Given the description of an element on the screen output the (x, y) to click on. 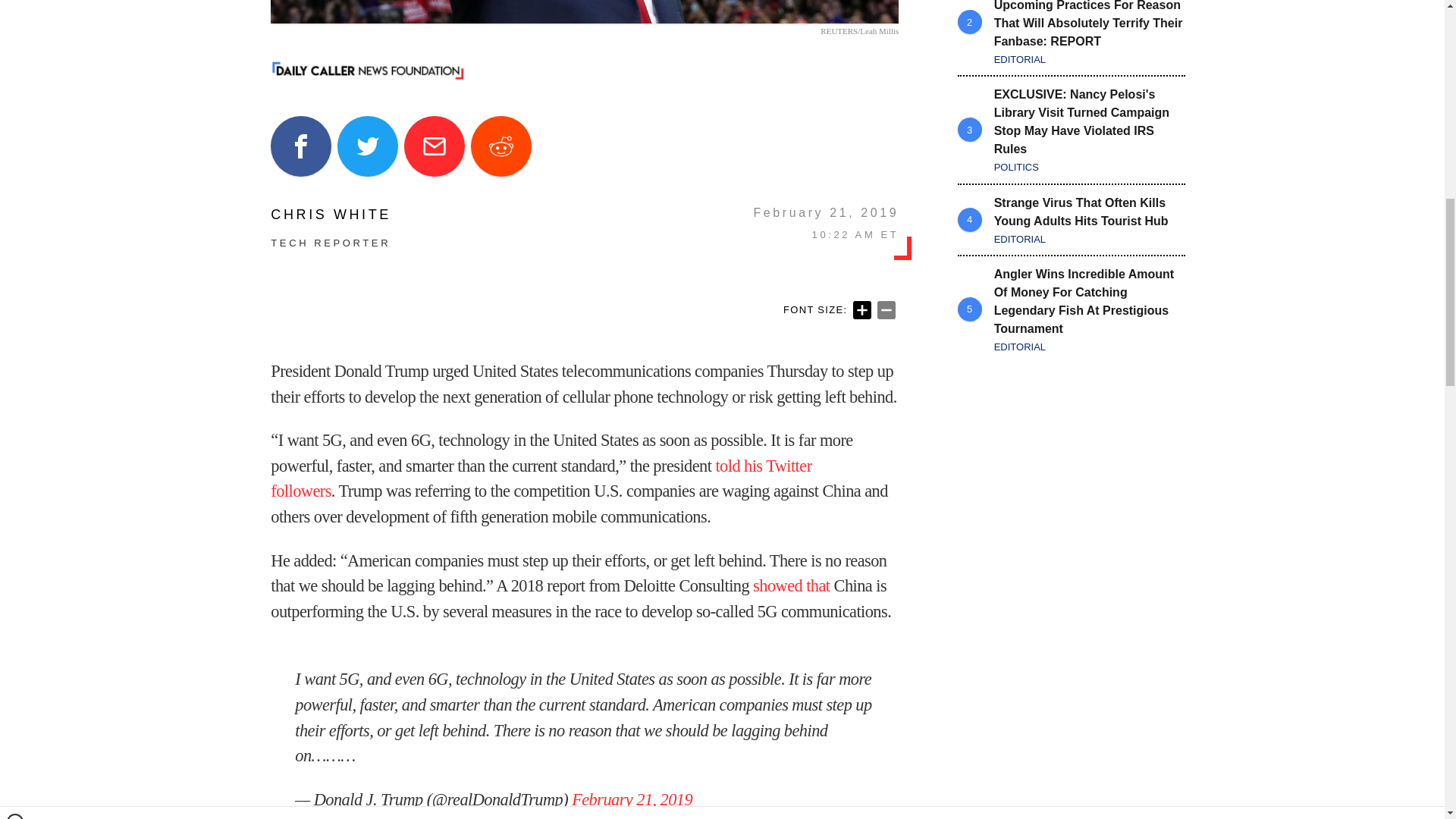
told his Twitter followers (540, 478)
showed that (790, 585)
View More Articles By Chris White (330, 214)
CHRIS WHITE (330, 214)
Close window (14, 6)
